Given the description of an element on the screen output the (x, y) to click on. 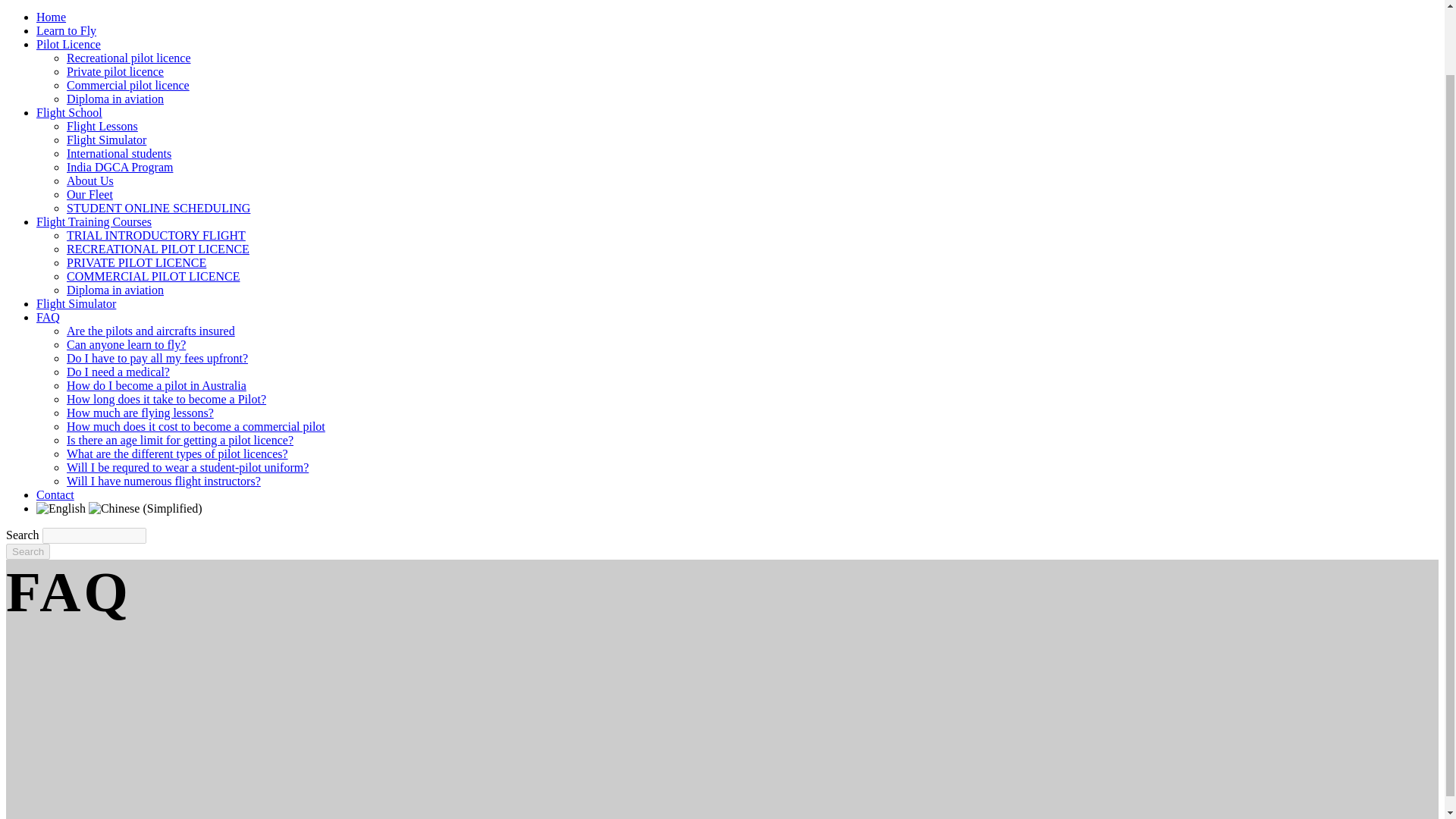
Diploma in aviation (114, 289)
Recreational pilot licence (128, 57)
Do I have to pay all my fees upfront? (156, 358)
Flight Training Courses (93, 221)
Learn to Fly (66, 30)
Can anyone learn to fly? (126, 344)
International students (118, 153)
Will I have numerous flight instructors? (163, 481)
How long does it take to become a Pilot? (166, 399)
Contact (55, 494)
